Given the description of an element on the screen output the (x, y) to click on. 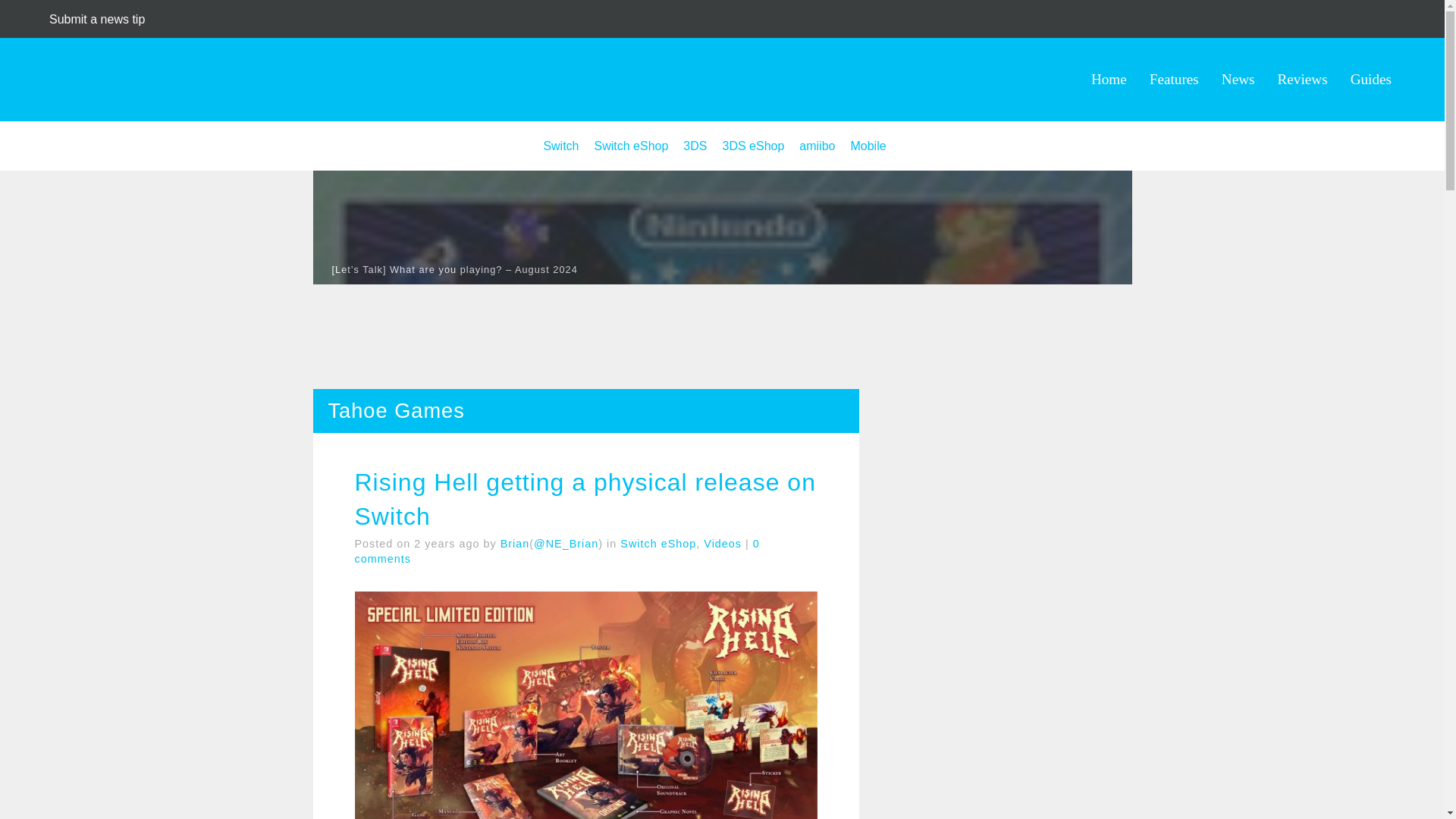
Reviews (1302, 78)
Switch (560, 145)
News (1238, 78)
Guides (1371, 78)
3DS (694, 145)
Switch eShop (631, 145)
Rising Hell getting a physical release on Switch (585, 499)
0 comments (557, 551)
Brian (514, 543)
3DS eShop (753, 145)
Posts by Brian (514, 543)
Mobile (867, 145)
Features (1174, 78)
Submit a news tip (97, 19)
amiibo (816, 145)
